Given the description of an element on the screen output the (x, y) to click on. 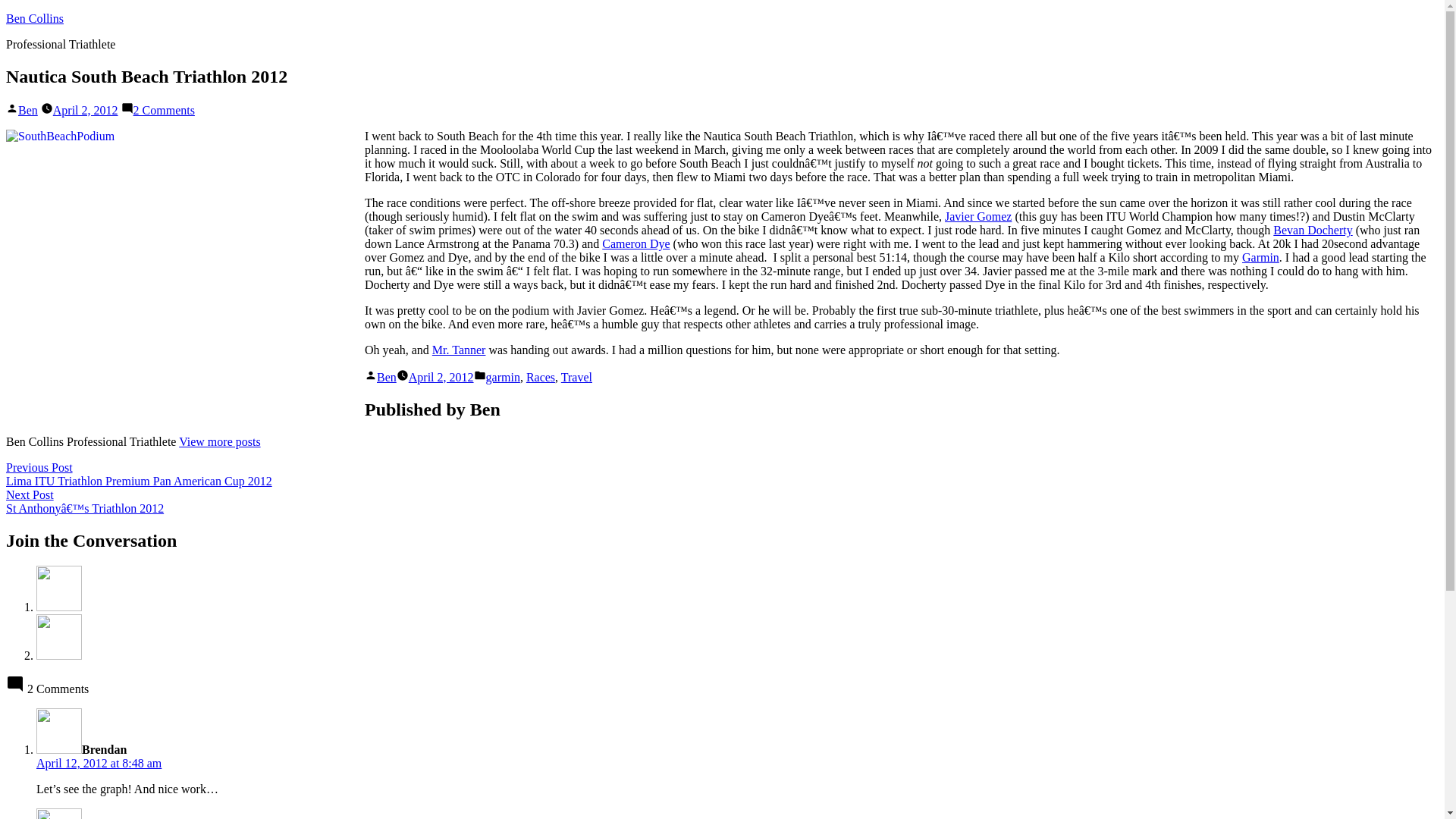
garmin (502, 377)
Javier Gomez (977, 215)
Bevan Docherty (1312, 229)
April 2, 2012 (441, 377)
Ben (164, 110)
Ben (27, 110)
April 12, 2012 at 8:48 am (386, 377)
Mr. Tanner (98, 762)
Ben Collins (459, 349)
Cameron Dye (34, 18)
Travel (635, 243)
Races (576, 377)
